Given the description of an element on the screen output the (x, y) to click on. 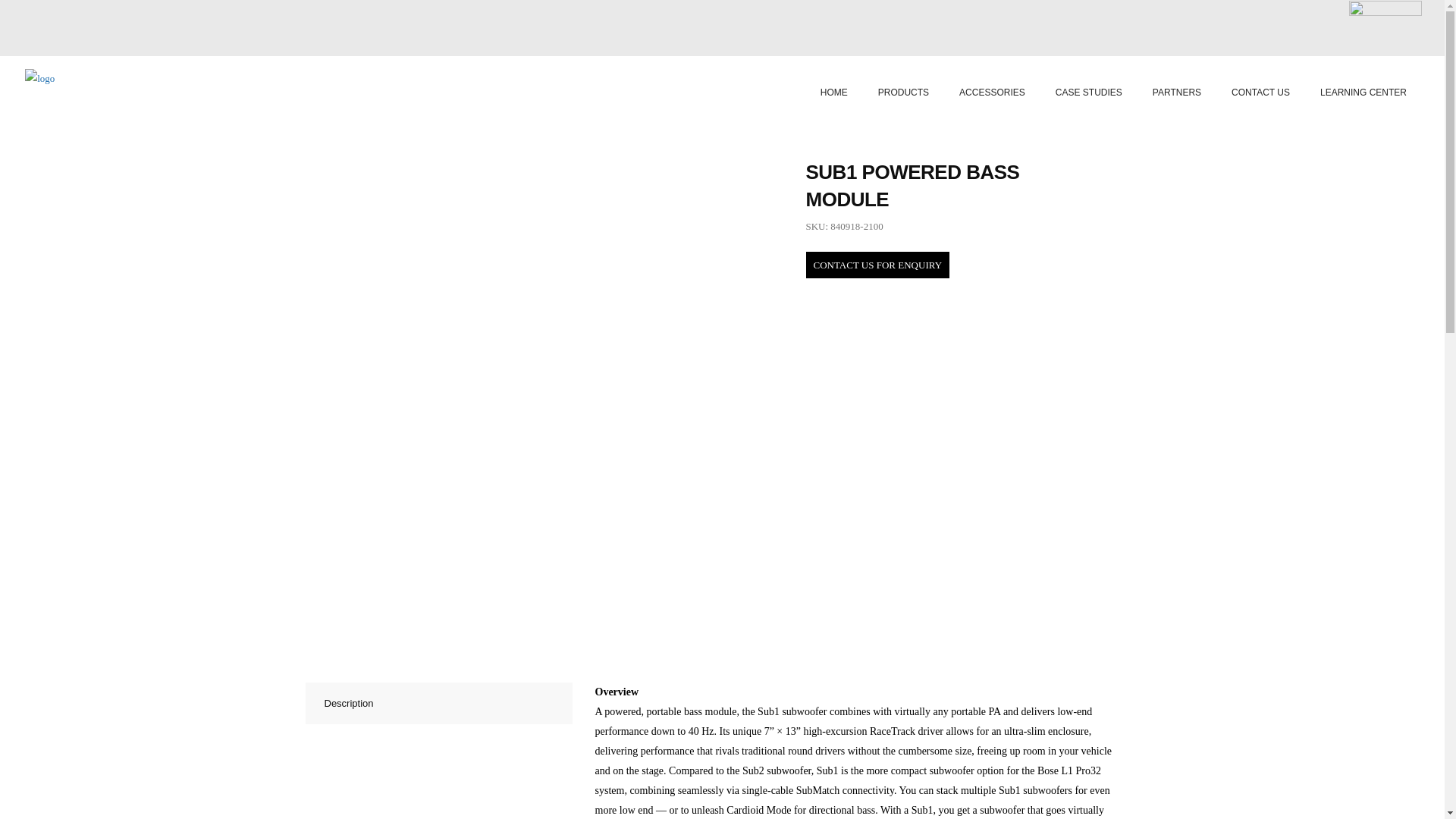
Sub1 Powered Bass Module (877, 264)
ACCESSORIES (992, 91)
PRODUCTS (903, 91)
